Given the description of an element on the screen output the (x, y) to click on. 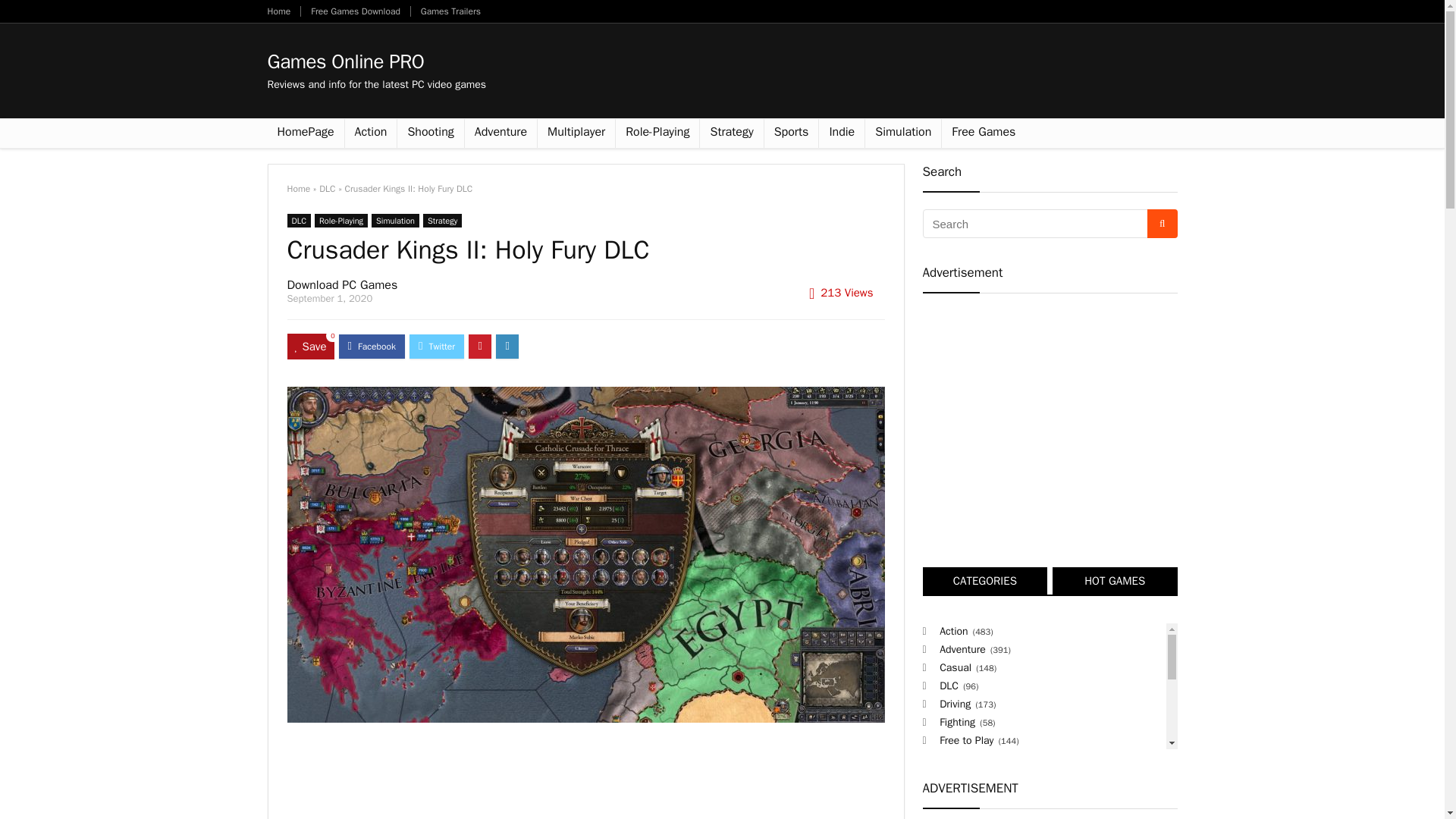
View all posts in Simulation (395, 220)
Free Games (983, 133)
Adventure (500, 133)
Simulation (395, 220)
Free Games Download (355, 10)
Home (298, 188)
Download PC Games (341, 284)
Advertisement (584, 775)
Multiplayer (575, 133)
View all posts in Role-Playing (341, 220)
